Given the description of an element on the screen output the (x, y) to click on. 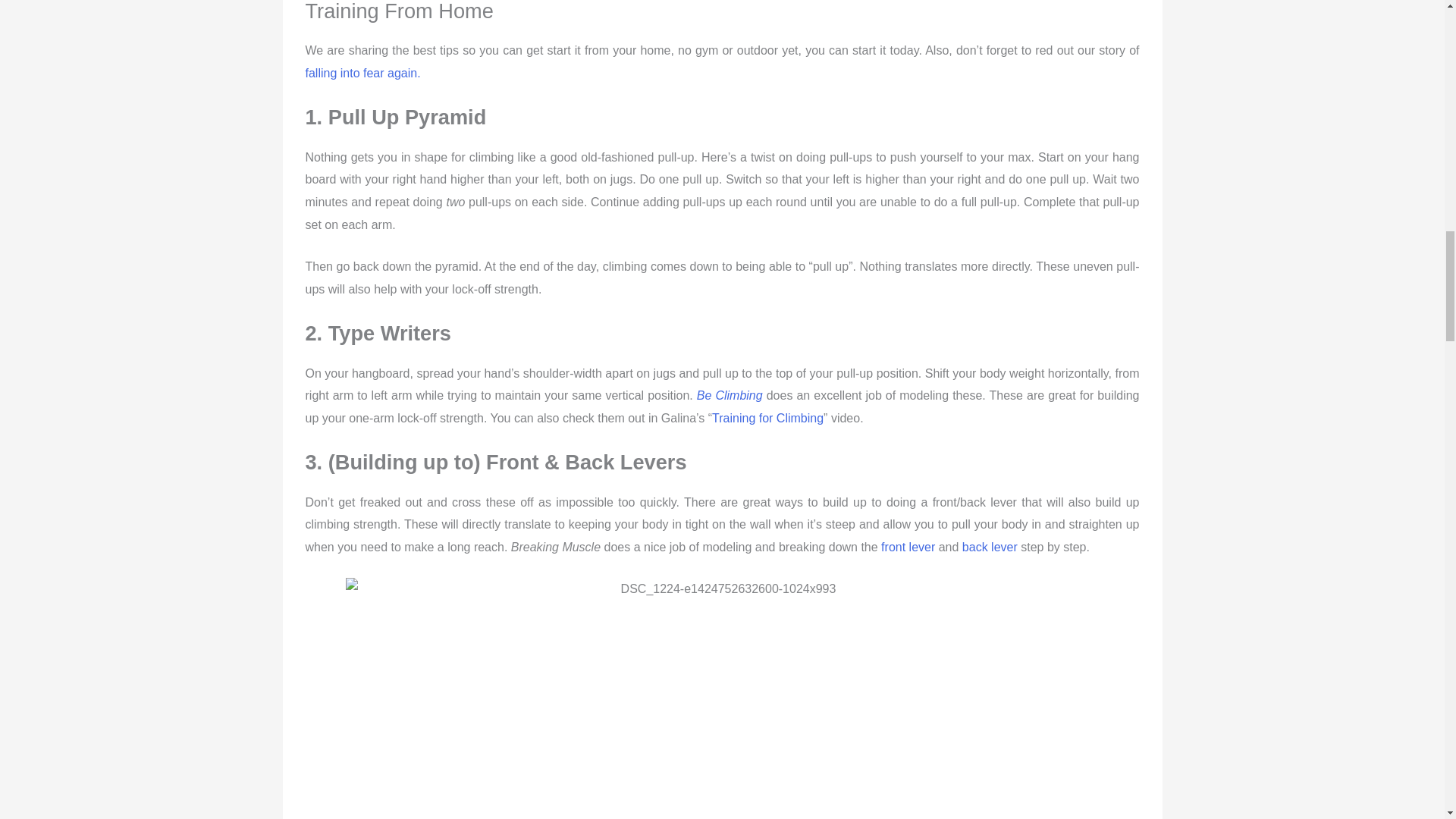
falling into fear again. (362, 72)
Training for Climbing (767, 418)
Be Climbing (729, 395)
front lever (907, 546)
back lever (989, 546)
